Given the description of an element on the screen output the (x, y) to click on. 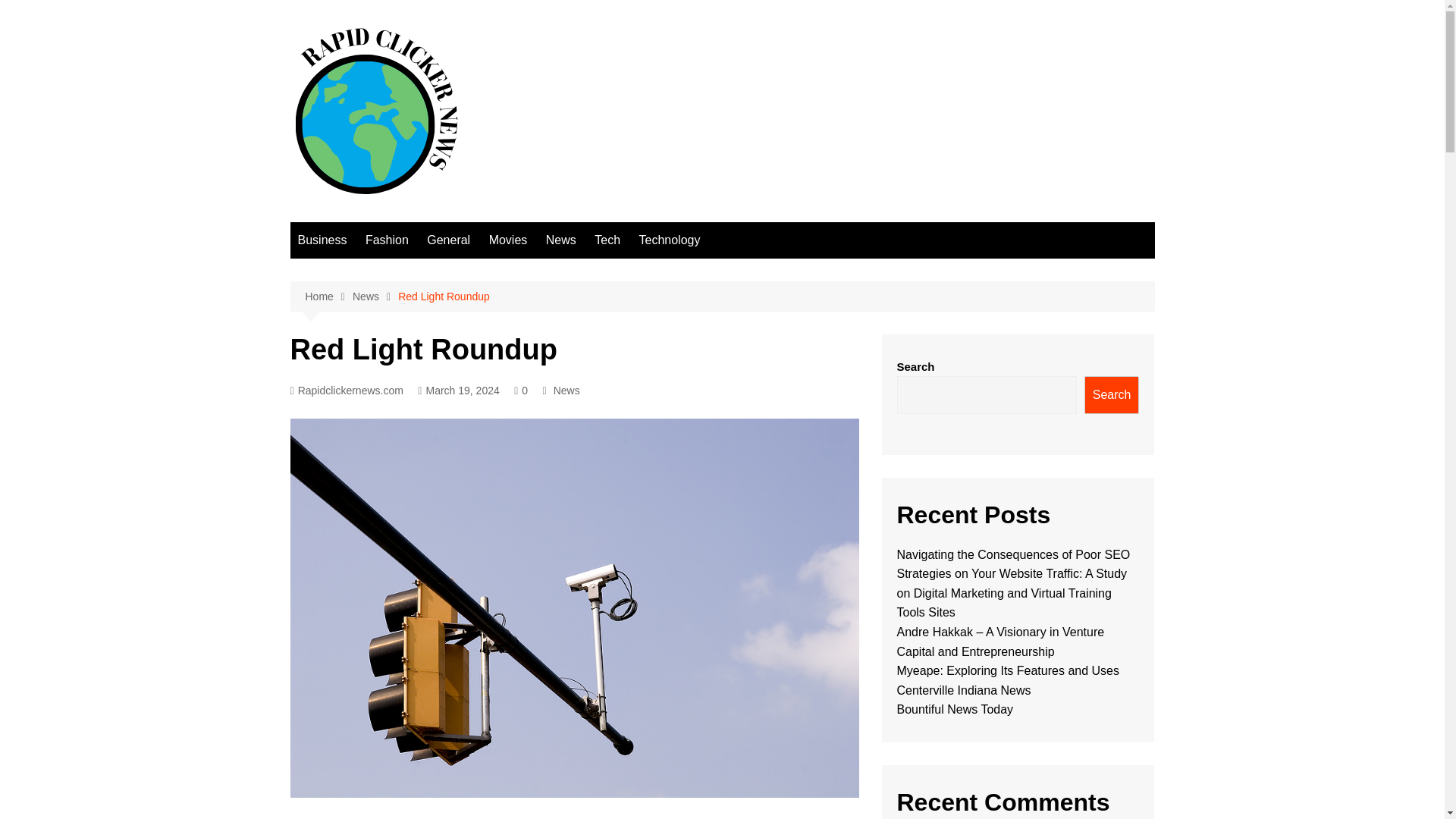
Fashion (387, 239)
News (374, 296)
Rapidclickernews.com (346, 390)
March 19, 2024 (458, 390)
News (560, 239)
0 (520, 390)
Tech (606, 239)
Movies (508, 239)
Business (321, 239)
News (566, 390)
General (448, 239)
Technology (668, 239)
Red Light Roundup (443, 296)
Home (328, 296)
